Given the description of an element on the screen output the (x, y) to click on. 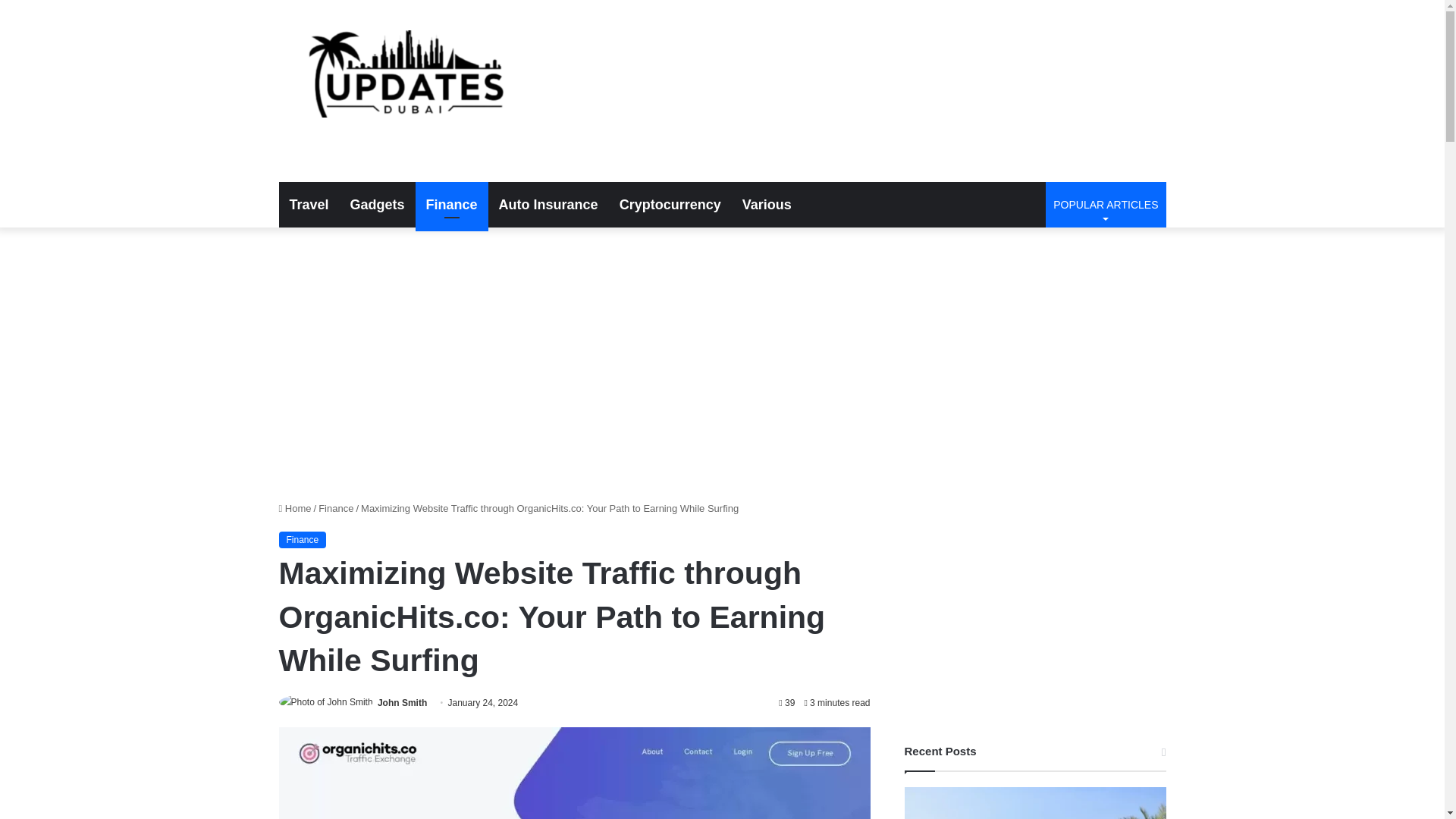
Travel (309, 204)
John Smith (401, 702)
Various (767, 204)
Finance (302, 539)
Home (295, 508)
Cryptocurrency (1105, 204)
John Smith (670, 204)
Auto Insurance (401, 702)
Gadgets (547, 204)
Finance (376, 204)
Finance (335, 508)
